Given the description of an element on the screen output the (x, y) to click on. 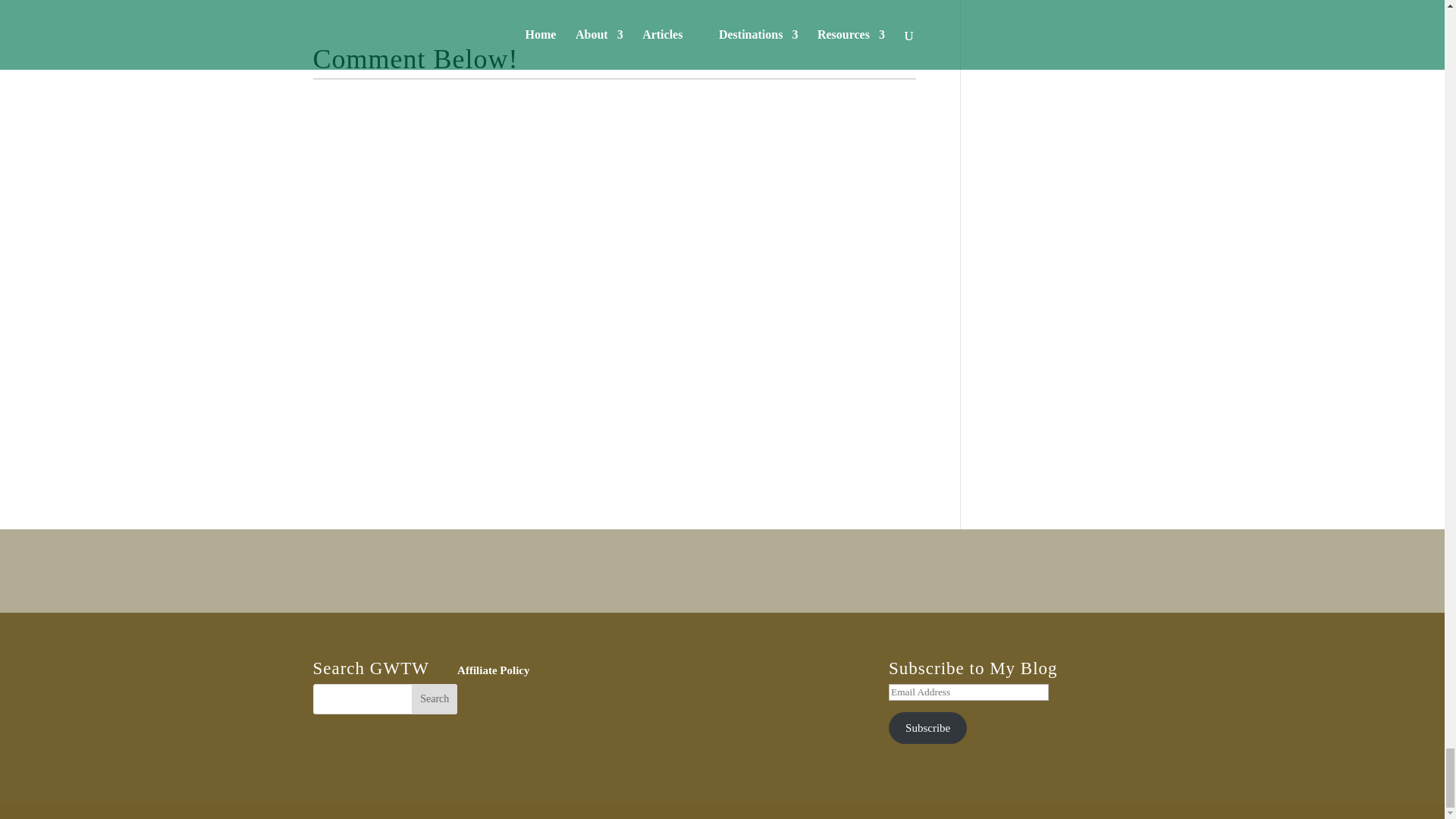
Search (434, 698)
